Given the description of an element on the screen output the (x, y) to click on. 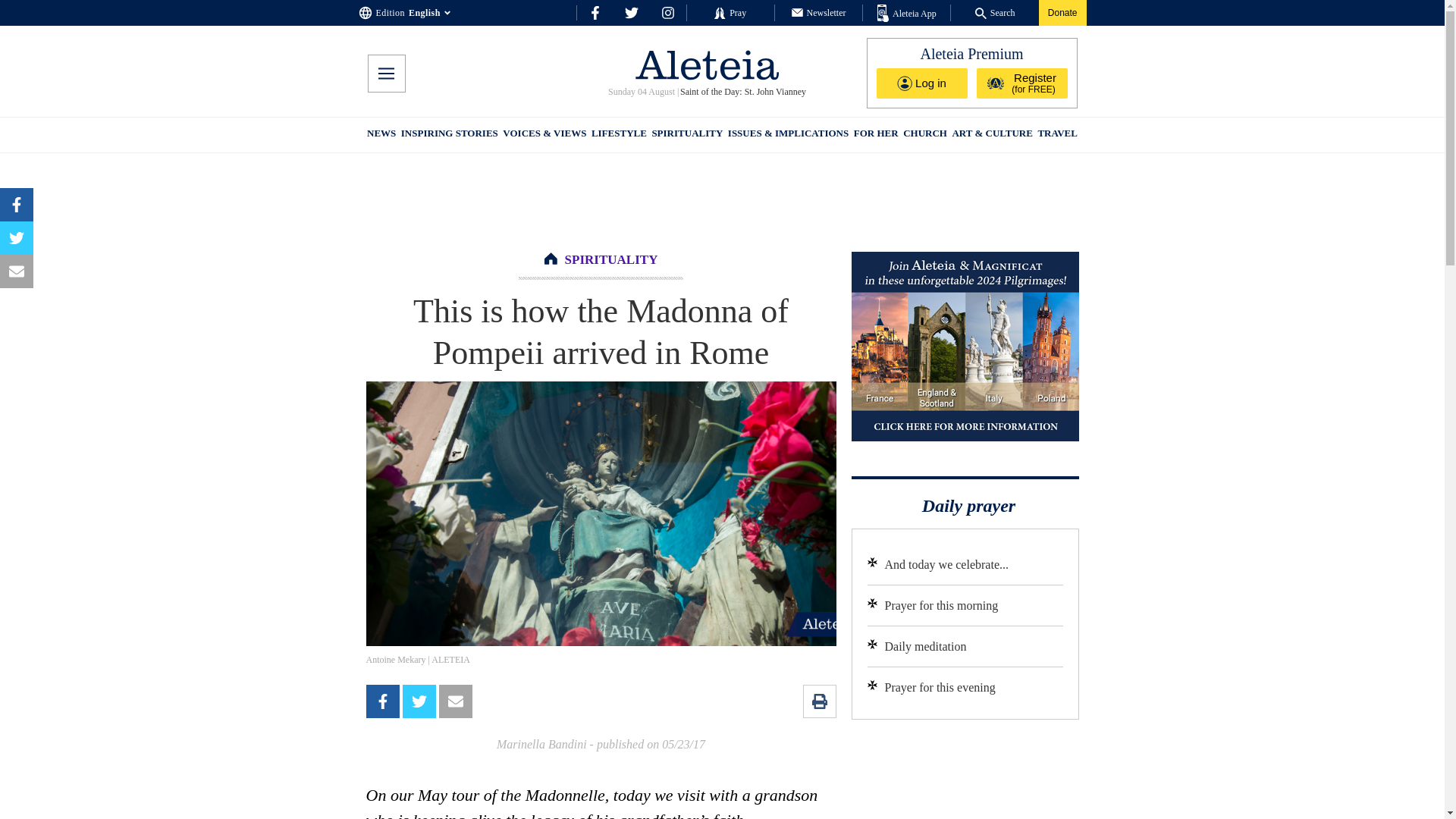
social-tw-top-row (631, 12)
Aleteia App (906, 13)
mobile-menu-btn (385, 73)
social-fb-top-row (595, 12)
Log in (922, 82)
Saint of the Day: St. John Vianney (742, 91)
TRAVEL (1056, 134)
SPIRITUALITY (686, 134)
LIFESTYLE (618, 134)
Marinella Bandini (541, 744)
SPIRITUALITY (611, 259)
Donate (1062, 12)
Pray (729, 12)
INSPIRING STORIES (449, 134)
logo-header (706, 64)
